Given the description of an element on the screen output the (x, y) to click on. 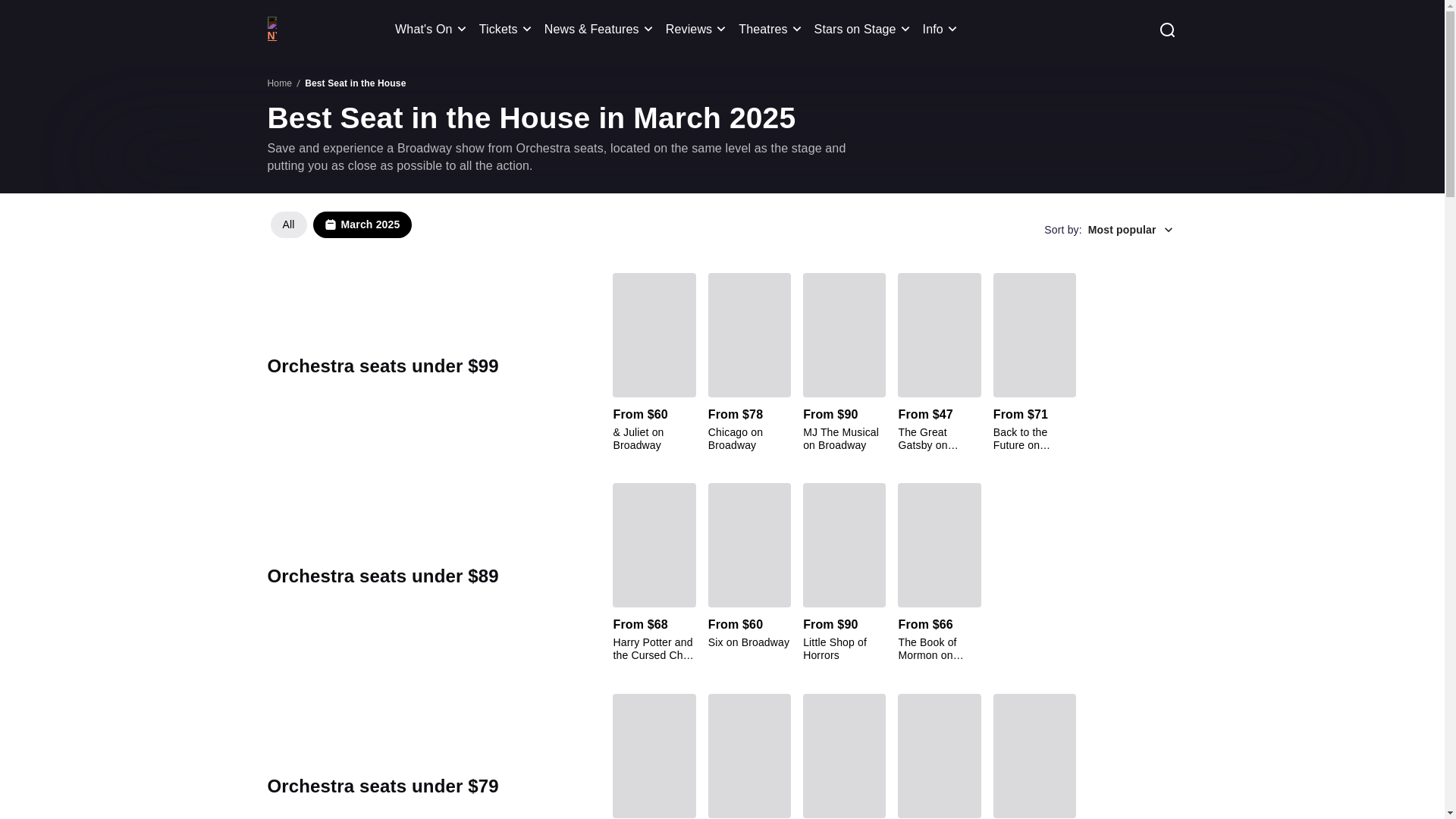
Tickets (343, 229)
Reviews (508, 28)
Theatres (698, 28)
What's On (772, 28)
